Given the description of an element on the screen output the (x, y) to click on. 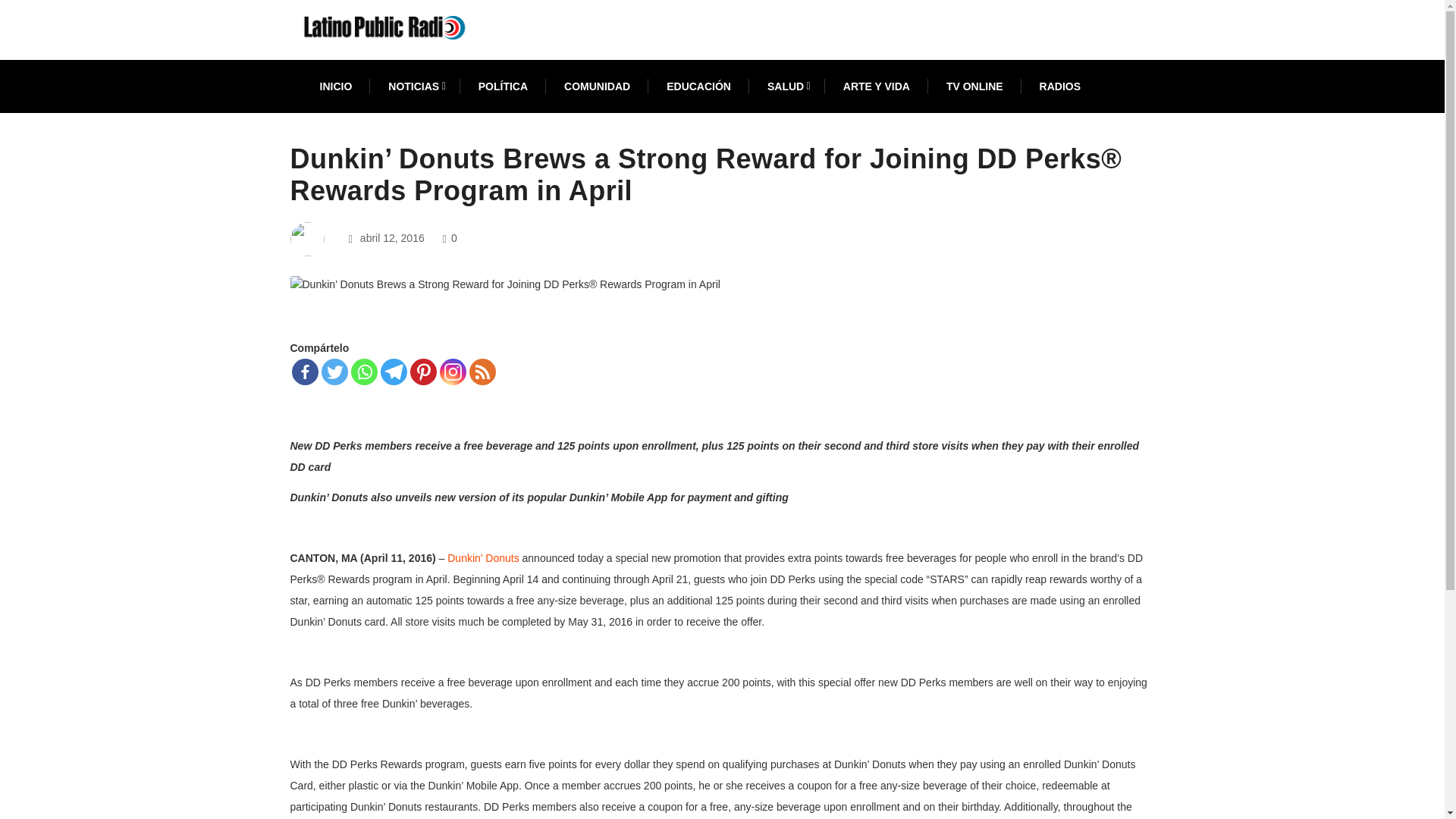
Pinterest (422, 371)
Telegram (393, 371)
TV ONLINE (974, 86)
ARTE Y VIDA (876, 86)
Whatsapp (363, 371)
RSS Feed (481, 371)
NOTICIAS (414, 86)
Instagram (452, 371)
Facebook (304, 371)
COMUNIDAD (597, 86)
